Given the description of an element on the screen output the (x, y) to click on. 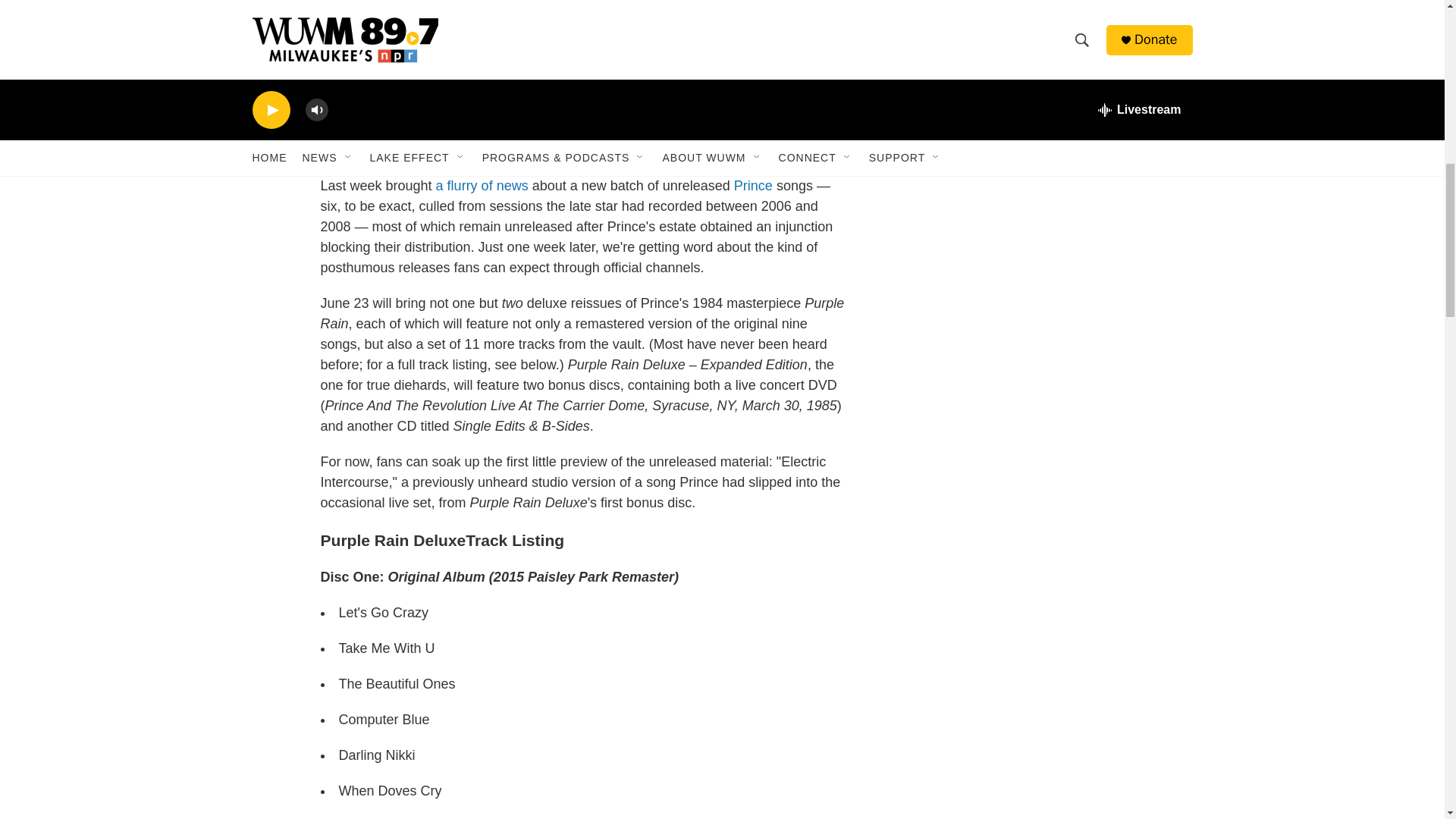
3rd party ad content (1062, 80)
